Given the description of an element on the screen output the (x, y) to click on. 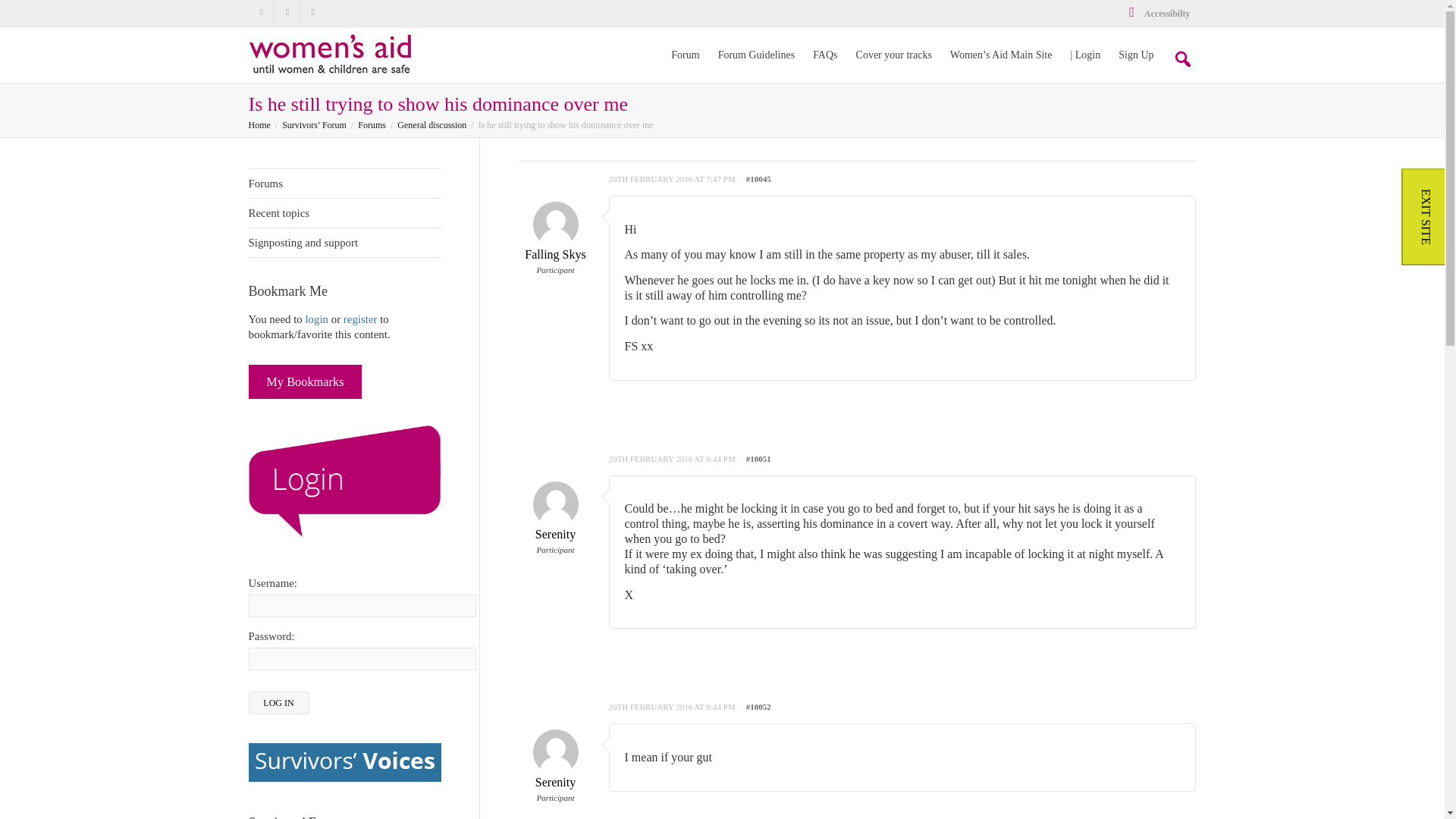
View Serenity's profile (554, 767)
Signposting and support (344, 242)
Cover your tracks (893, 54)
Accessibilty (1157, 13)
Home (259, 124)
Cover your tracks (893, 54)
Forums (371, 124)
Forum Guidelines (755, 54)
Recent topics (344, 213)
Forum Guidelines (755, 54)
